Given the description of an element on the screen output the (x, y) to click on. 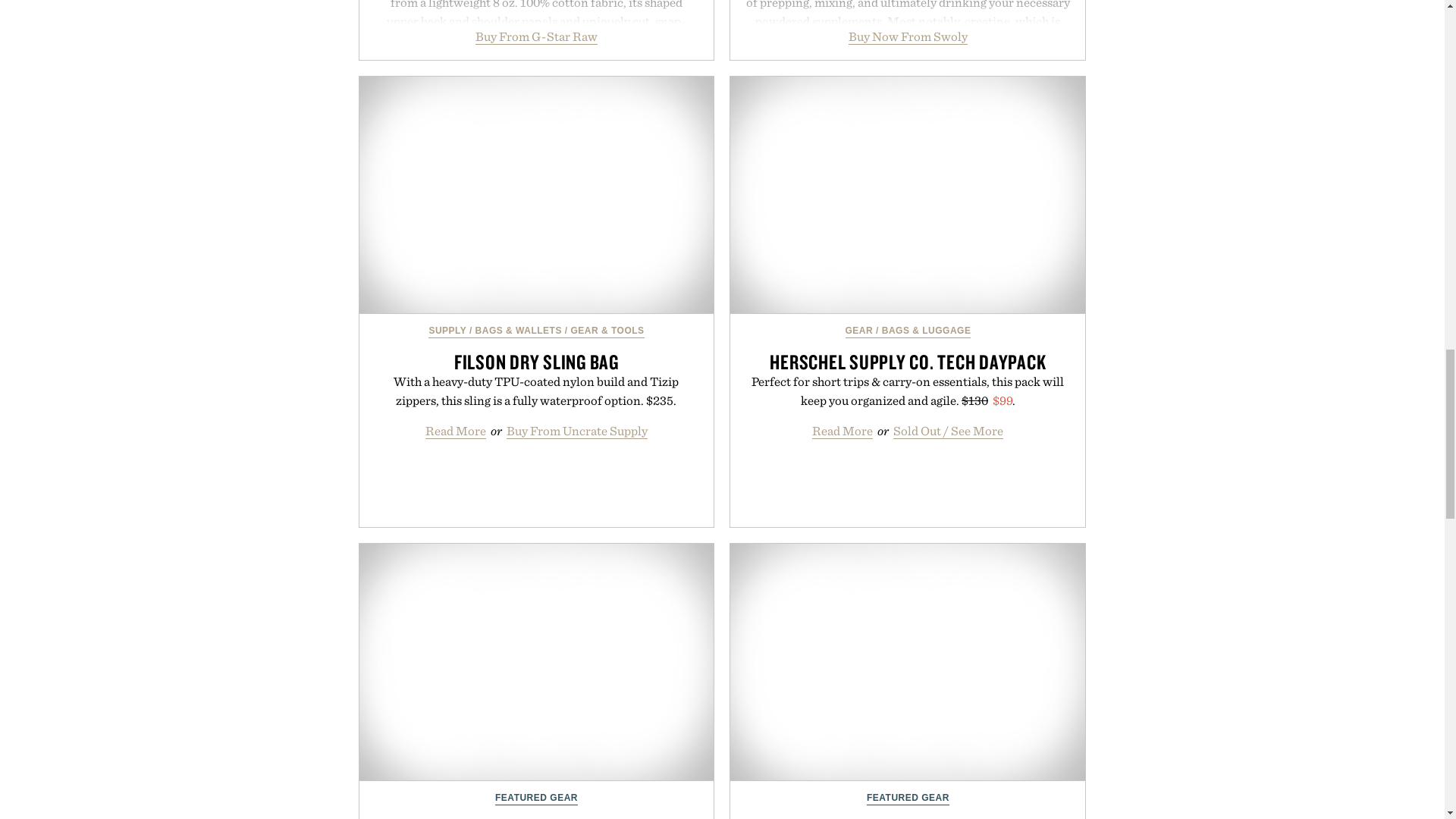
Subscribe (962, 374)
